Given the description of an element on the screen output the (x, y) to click on. 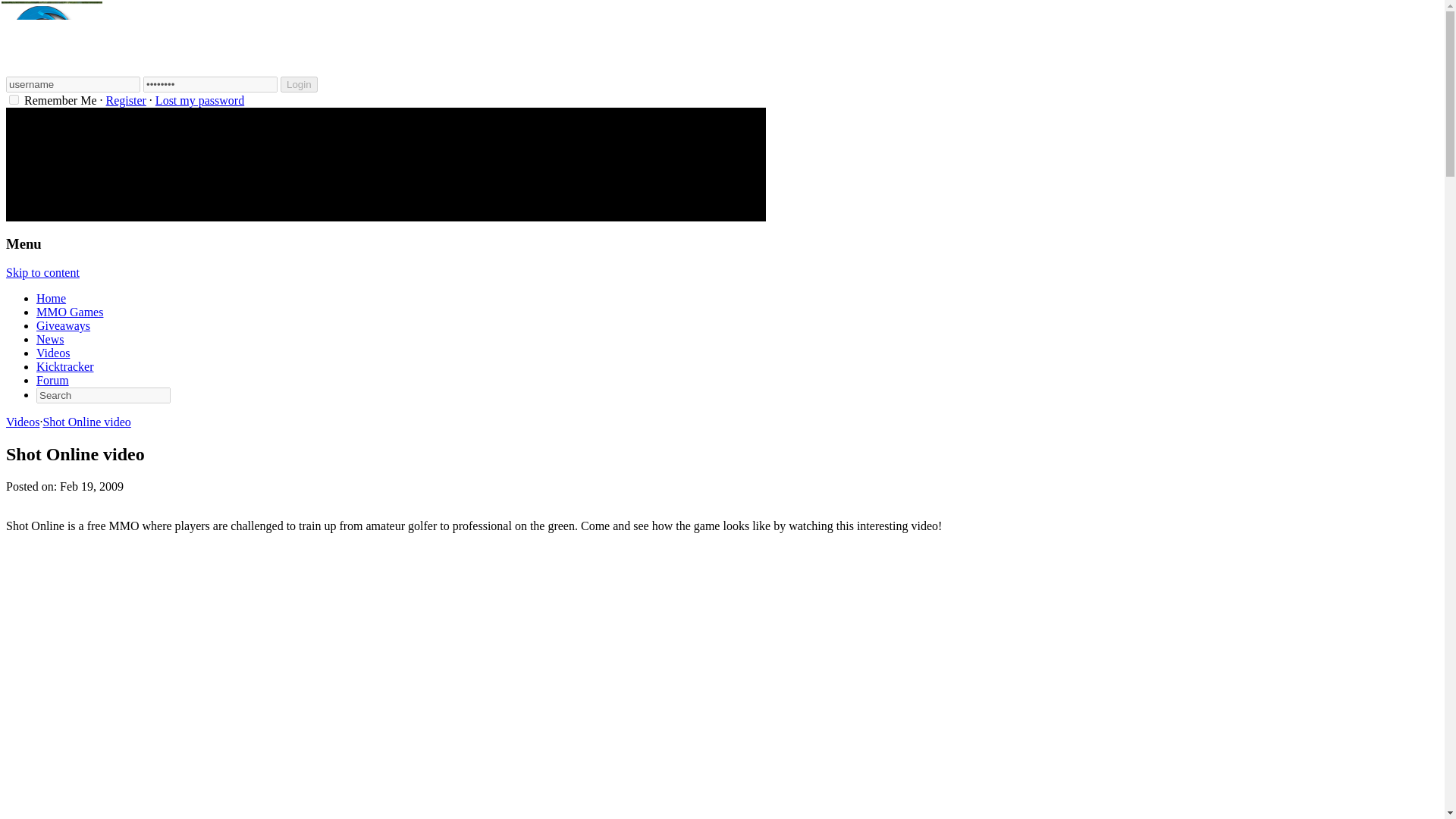
Giveaways (63, 325)
News (50, 338)
Skip to content (42, 272)
Shot Online video (86, 421)
username (72, 84)
Videos (22, 421)
Skip to content (42, 272)
Kickstarter Games, News, and Updates (65, 366)
Videos (52, 352)
password (210, 84)
